Given the description of an element on the screen output the (x, y) to click on. 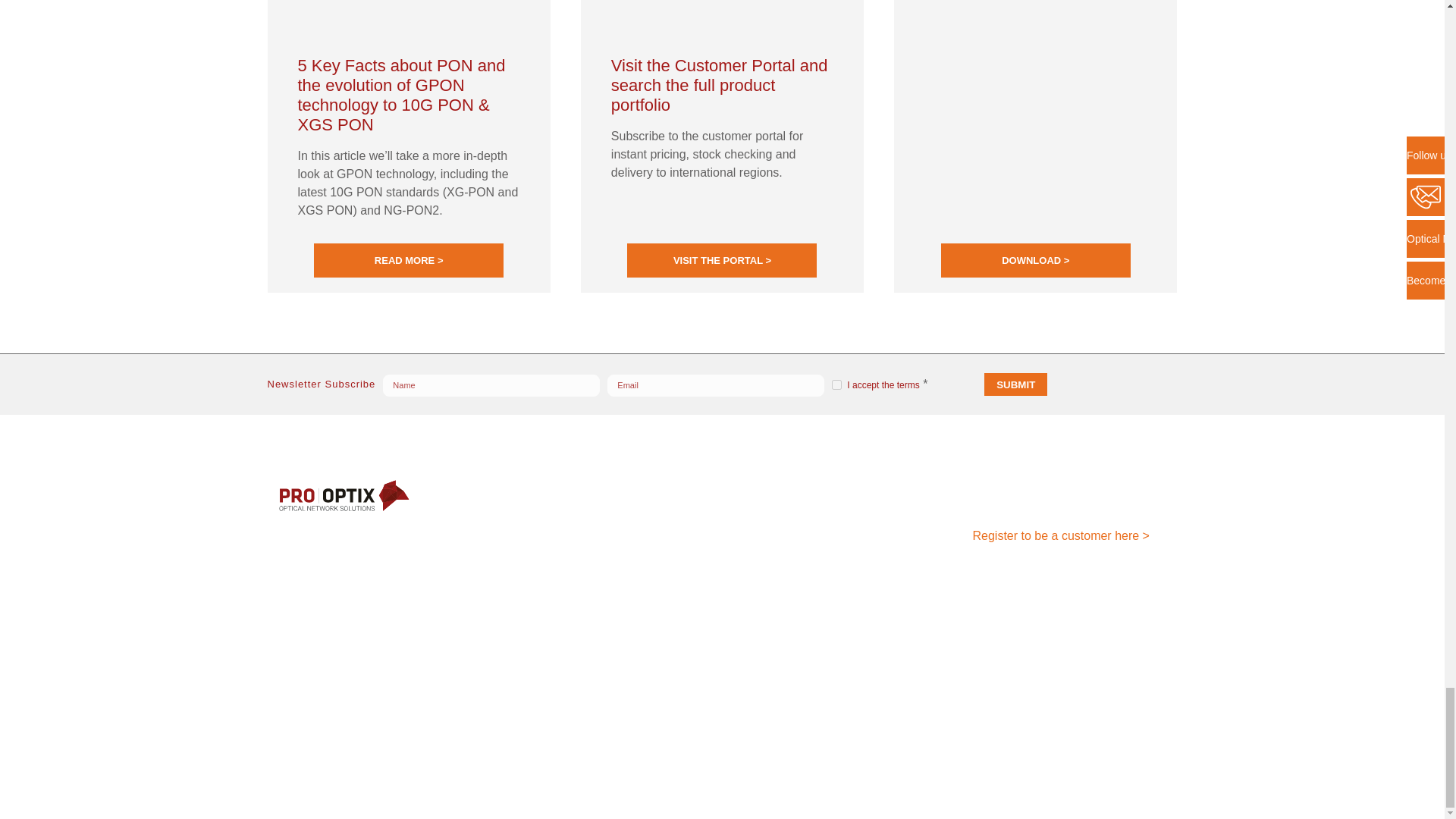
Email (715, 385)
Name (490, 385)
on (836, 384)
